Given the description of an element on the screen output the (x, y) to click on. 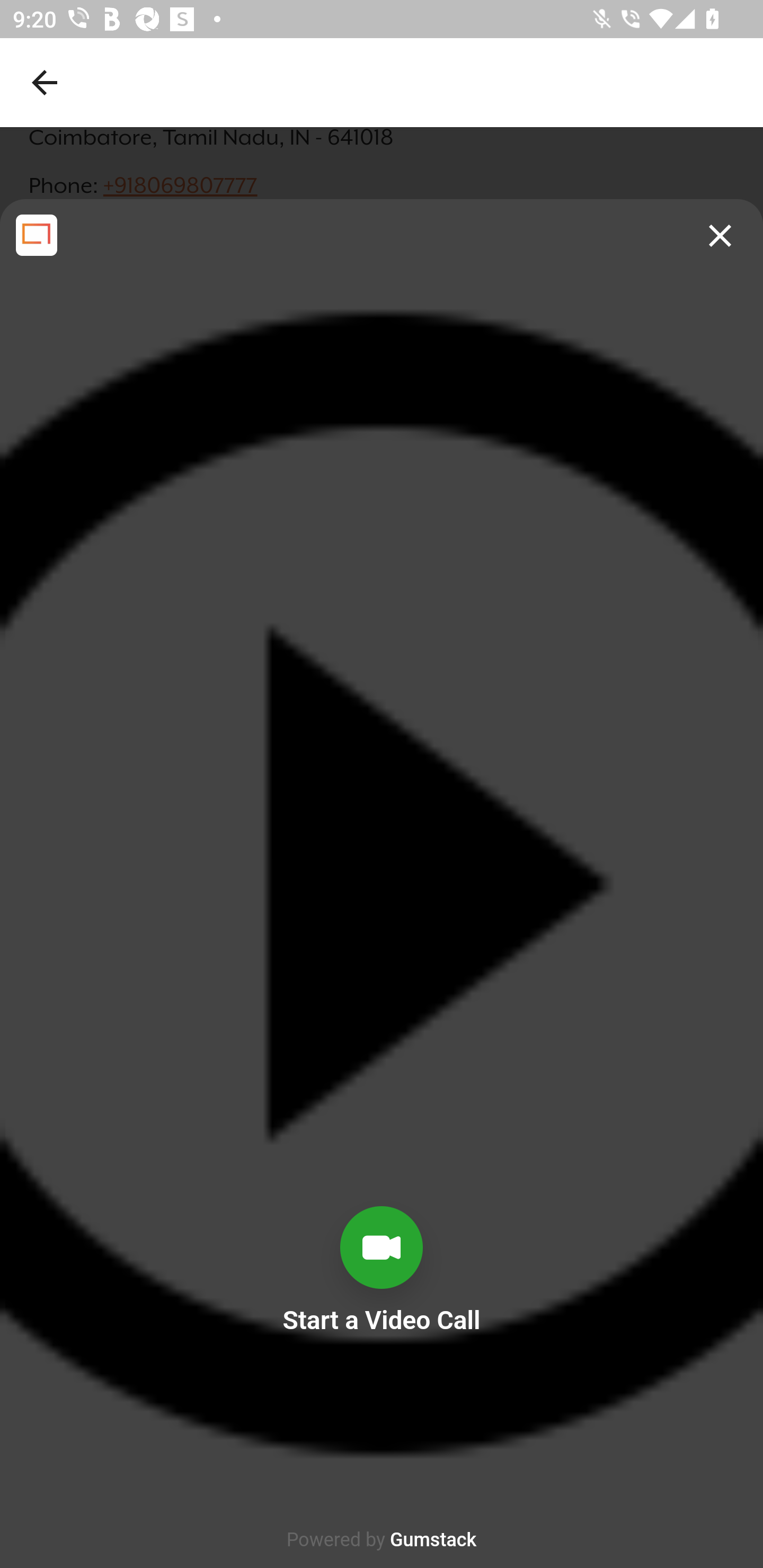
clear (720, 235)
 Start a Video Call (381, 1386)
Gumstack (432, 1540)
